Given the description of an element on the screen output the (x, y) to click on. 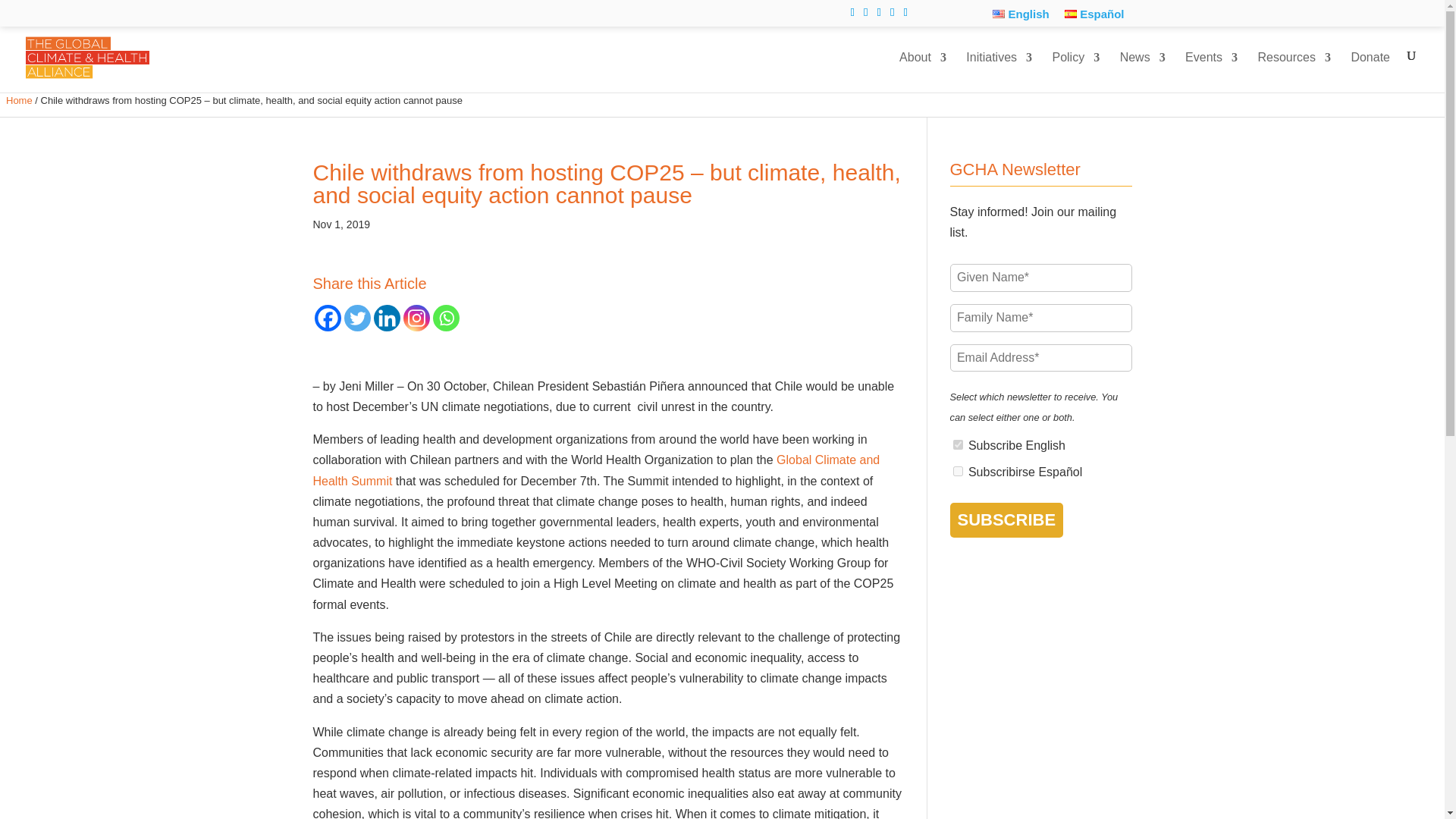
English (1020, 13)
About (922, 70)
Whatsapp (445, 317)
Linkedin (385, 317)
Policy (1075, 70)
d373f65f97 (957, 444)
Initiatives (999, 70)
Facebook (327, 317)
Instagram (416, 317)
6c7d2e99c9 (957, 470)
Twitter (357, 317)
